Given the description of an element on the screen output the (x, y) to click on. 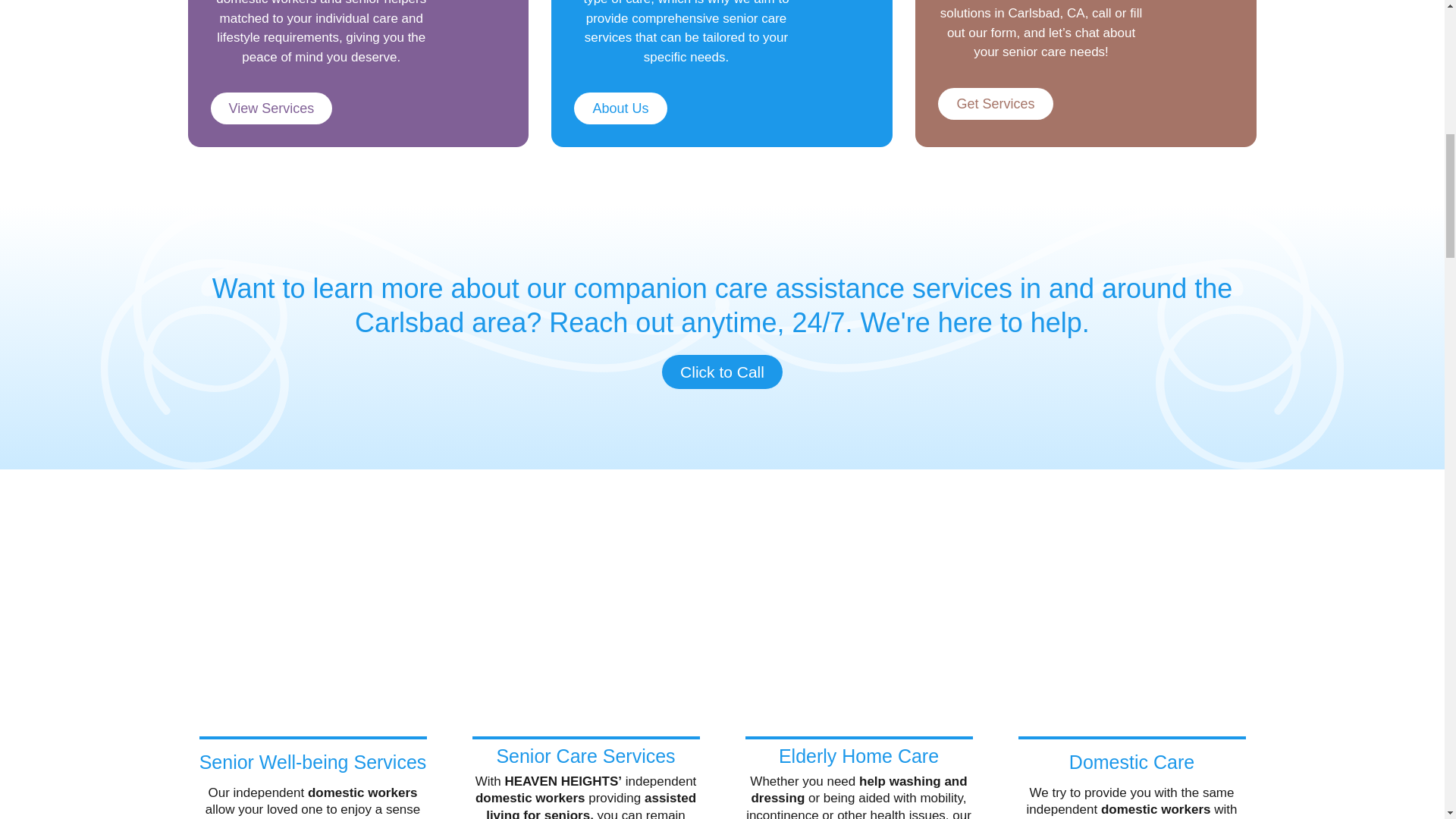
View Services (272, 108)
Click to Call (722, 371)
Senior Well-being Services (312, 762)
Get Services (994, 103)
About Us (619, 108)
Elderly Home Care (858, 755)
Senior Care Services (585, 755)
